Given the description of an element on the screen output the (x, y) to click on. 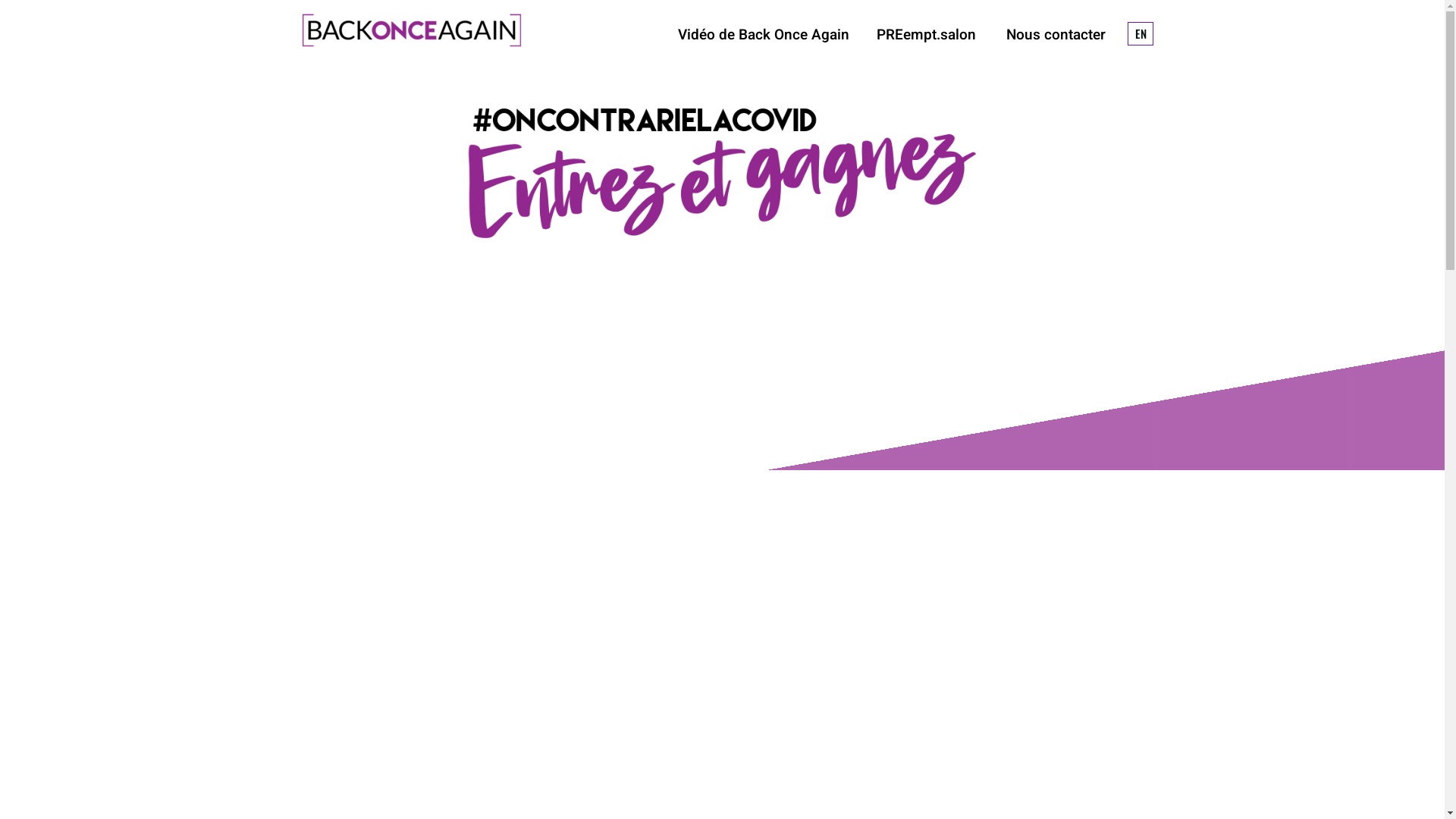
Nous contacter Element type: text (1055, 34)
EN Element type: text (1140, 33)
PREempt.salon Element type: text (925, 34)
